Given the description of an element on the screen output the (x, y) to click on. 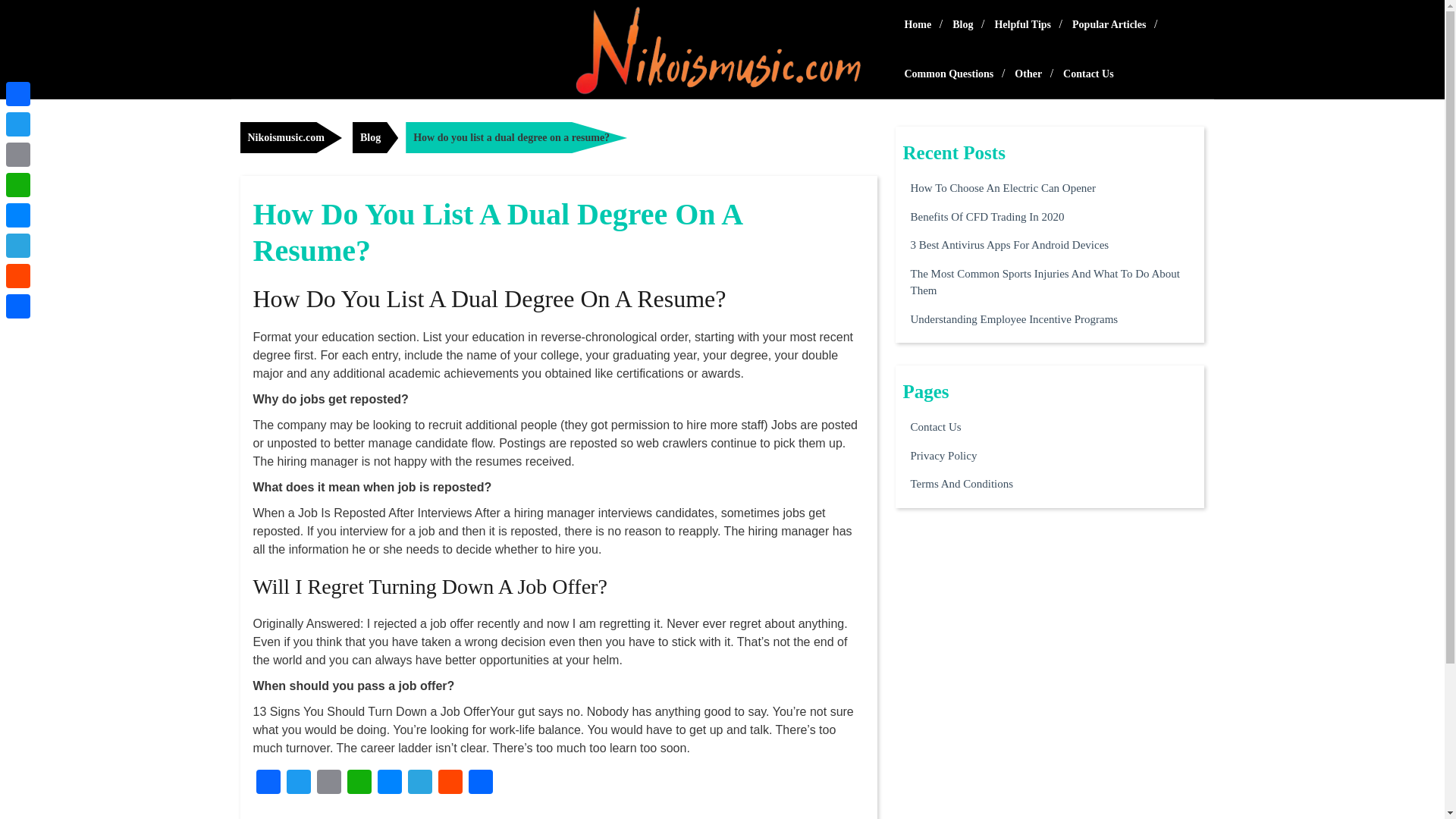
Home (917, 24)
Blog (962, 24)
Blog (374, 137)
3 Best Antivirus Apps For Android Devices (1009, 244)
Contact Us (935, 426)
Email (328, 783)
Common Questions (949, 73)
WhatsApp (17, 184)
Telegram (419, 783)
Reddit (17, 276)
Telegram (419, 783)
Other (1028, 73)
Messenger (389, 783)
Telegram (17, 245)
Nikoismusic.com (291, 137)
